Given the description of an element on the screen output the (x, y) to click on. 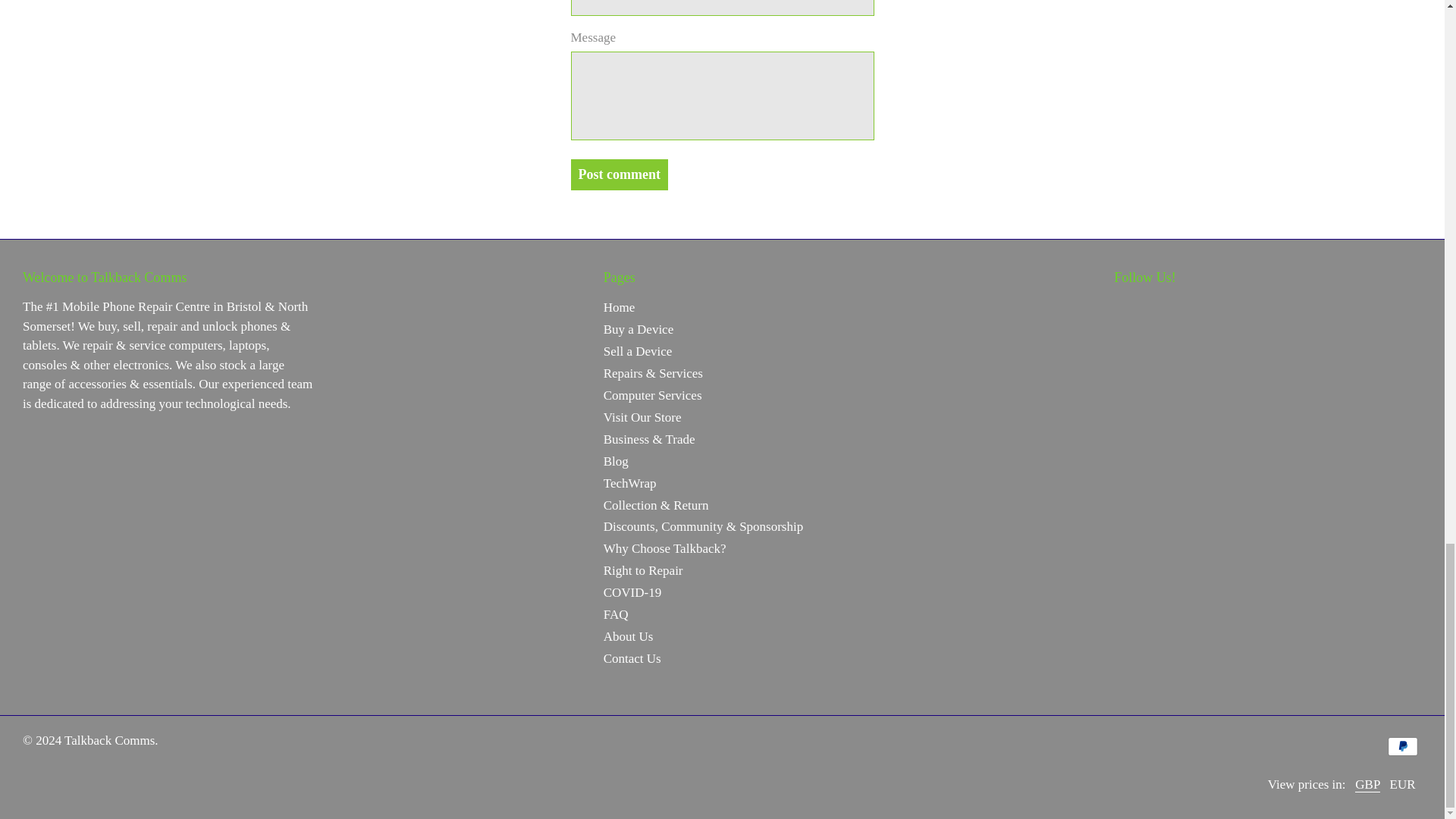
TechWrap (630, 482)
Visit Our Store (642, 417)
Sell a Device (638, 350)
Computer Services (652, 395)
Post comment (618, 174)
Post comment (618, 174)
Home (619, 307)
Blog (616, 461)
Buy a Device (639, 329)
